Given the description of an element on the screen output the (x, y) to click on. 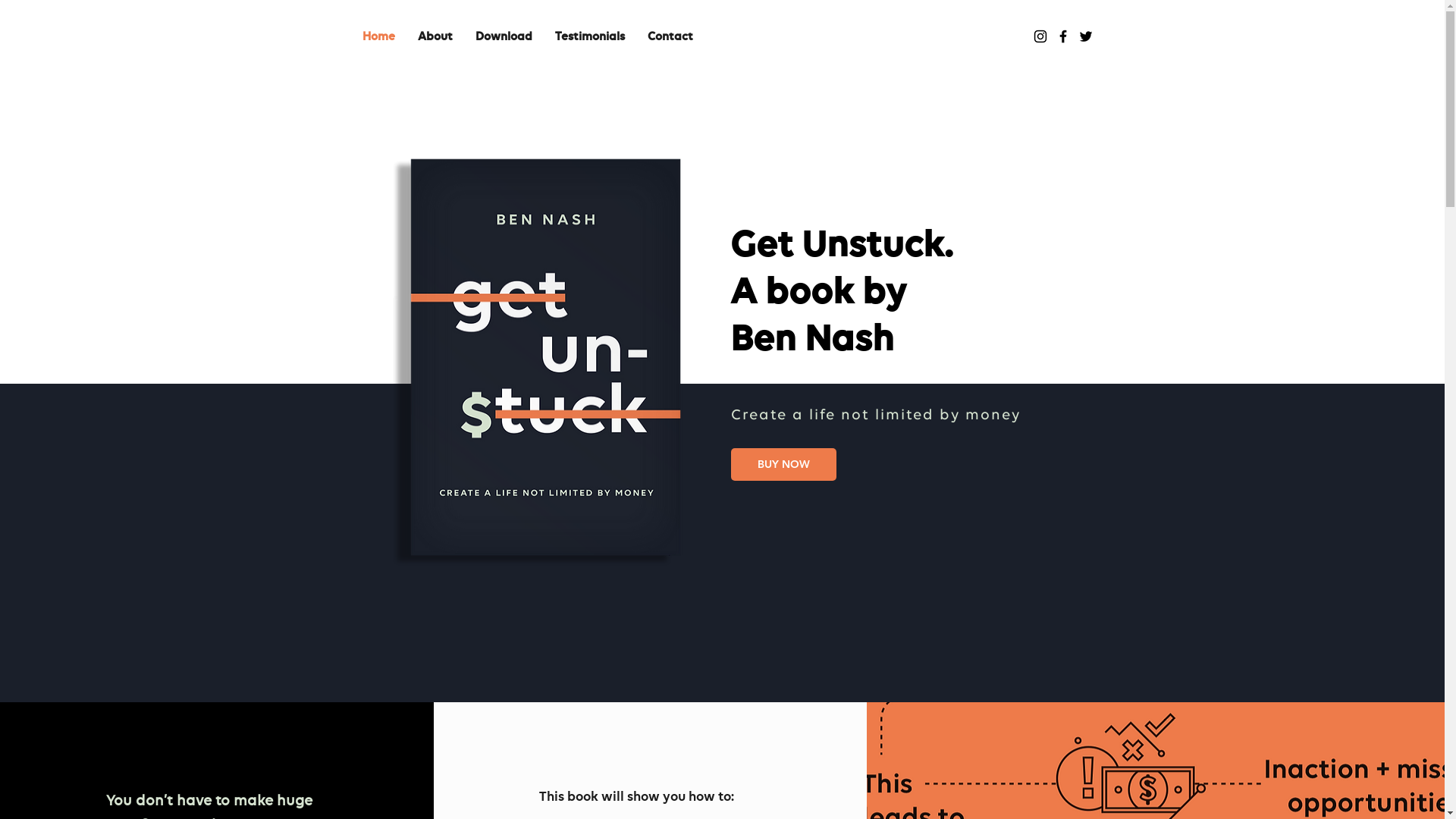
Testimonials Element type: text (588, 37)
Contact Element type: text (669, 37)
Download Element type: text (503, 37)
BUY NOW Element type: text (783, 464)
Home Element type: text (377, 37)
About Element type: text (435, 37)
